Given the description of an element on the screen output the (x, y) to click on. 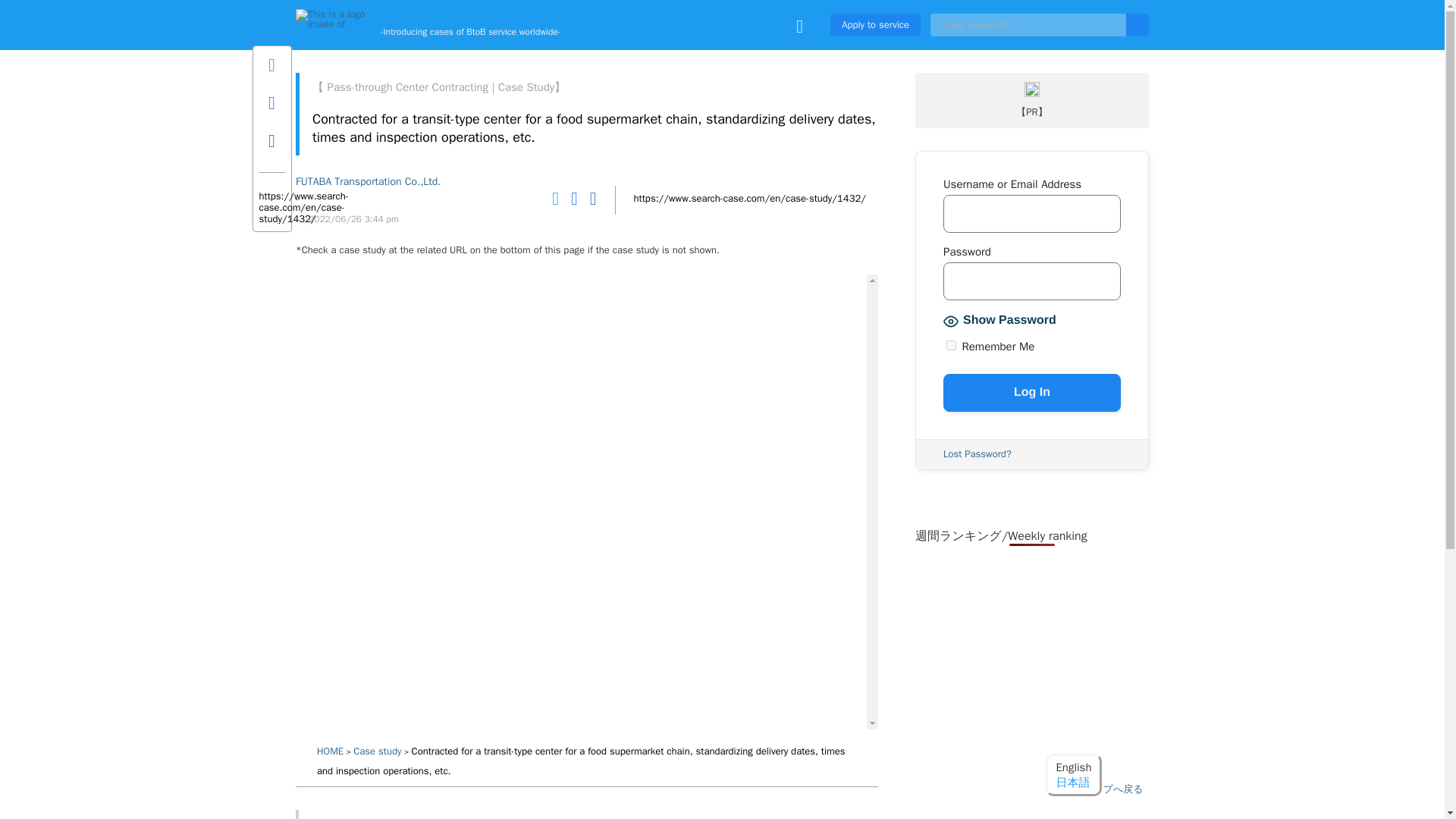
Apply to service (874, 24)
Japanese (1072, 782)
forever (951, 345)
Go to Case study. (377, 750)
Go to Search. (330, 750)
- (368, 199)
English (1072, 767)
English (1072, 767)
FUTABA Transportation Co.,Ltd. (368, 181)
Log In (1032, 392)
